Given the description of an element on the screen output the (x, y) to click on. 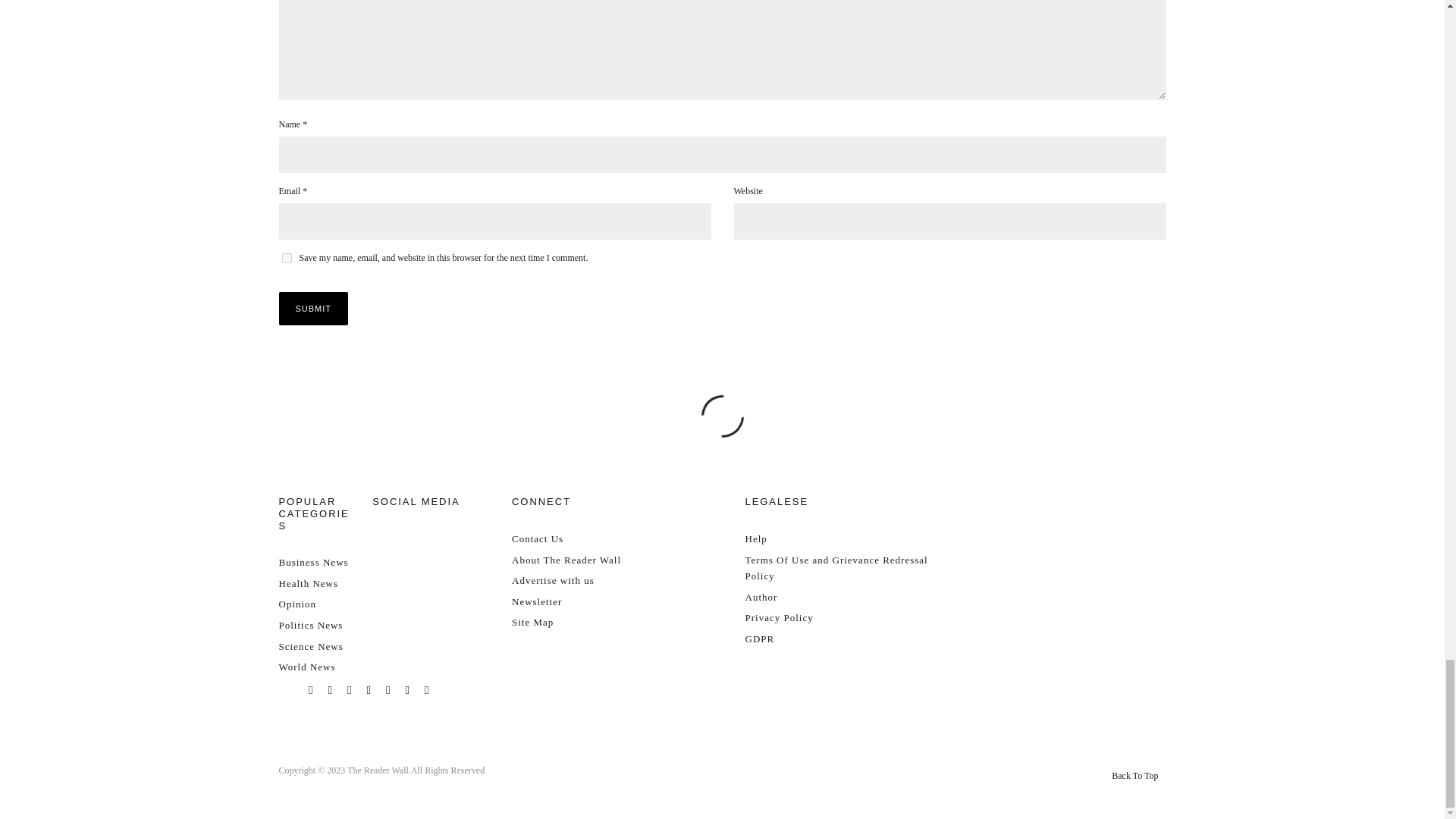
yes (287, 257)
Submit (314, 308)
